Given the description of an element on the screen output the (x, y) to click on. 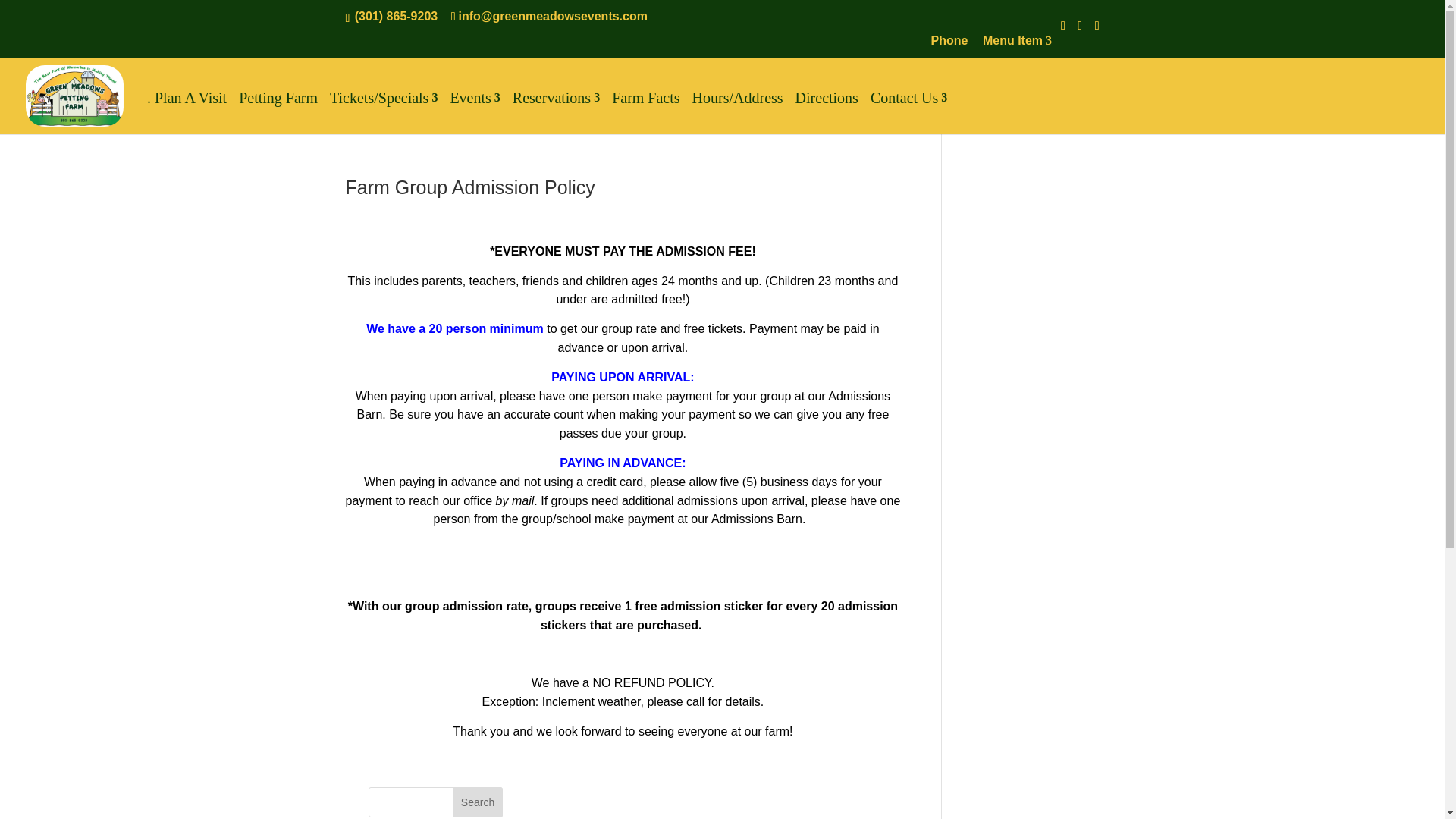
Farm Facts (645, 104)
Search (477, 802)
Menu Item (1016, 45)
. Plan A Visit (187, 104)
Contact Us (908, 104)
Phone (949, 45)
Events (474, 104)
Petting Farm (277, 104)
Directions (826, 104)
Reservations (555, 104)
